Given the description of an element on the screen output the (x, y) to click on. 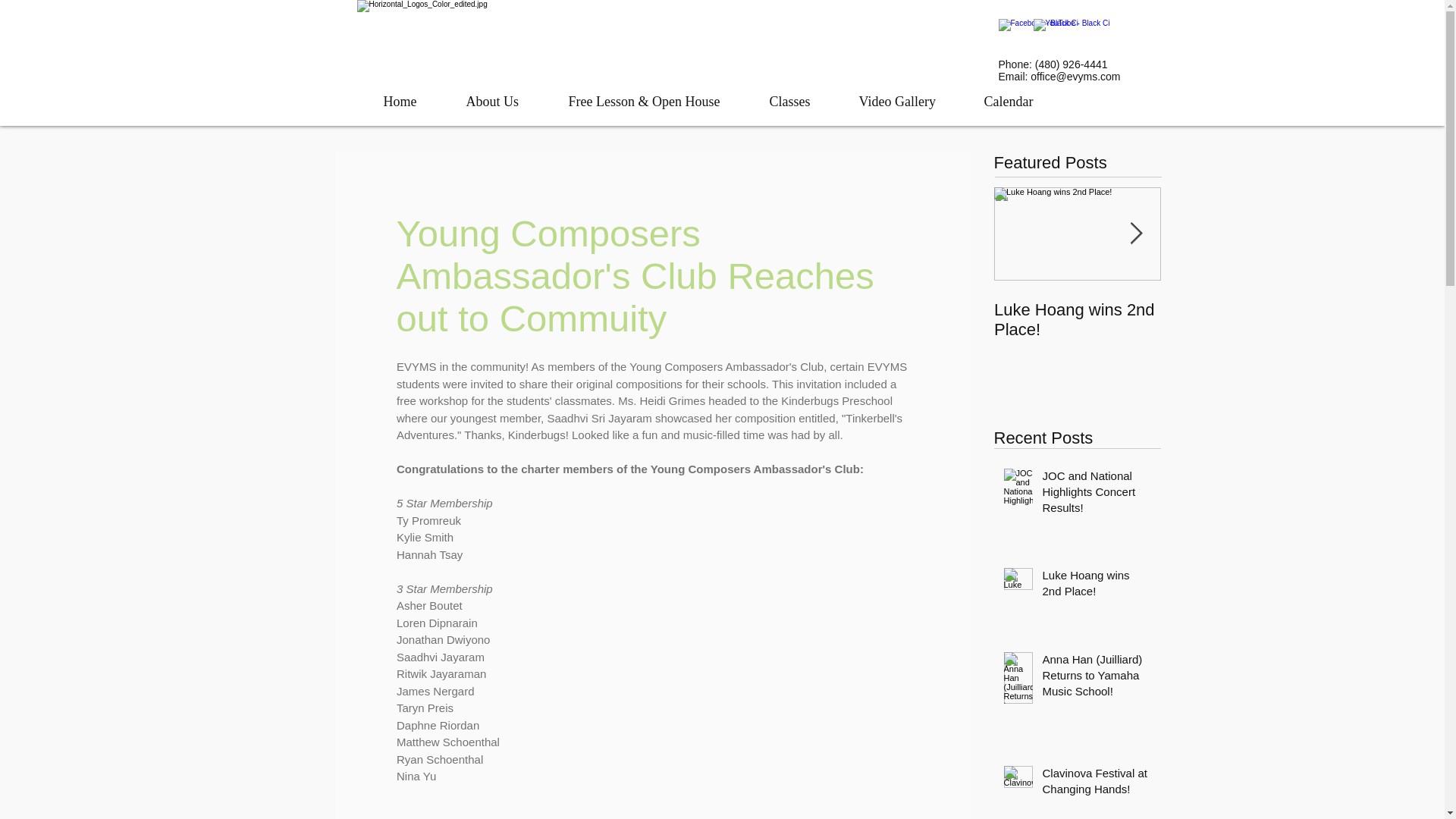
Luke Hoang wins 2nd Place! (1076, 319)
JOC and National Highlights Concert Results! (1096, 494)
Clavinova Festival at Changing Hands! (1096, 783)
Luke Hoang wins 2nd Place! (1096, 586)
Classes (802, 101)
Video Gallery (909, 101)
Calendar (1021, 101)
About Us (505, 101)
Teacher Spotlight: Deanna Rusnock (1243, 319)
Home (412, 101)
